Given the description of an element on the screen output the (x, y) to click on. 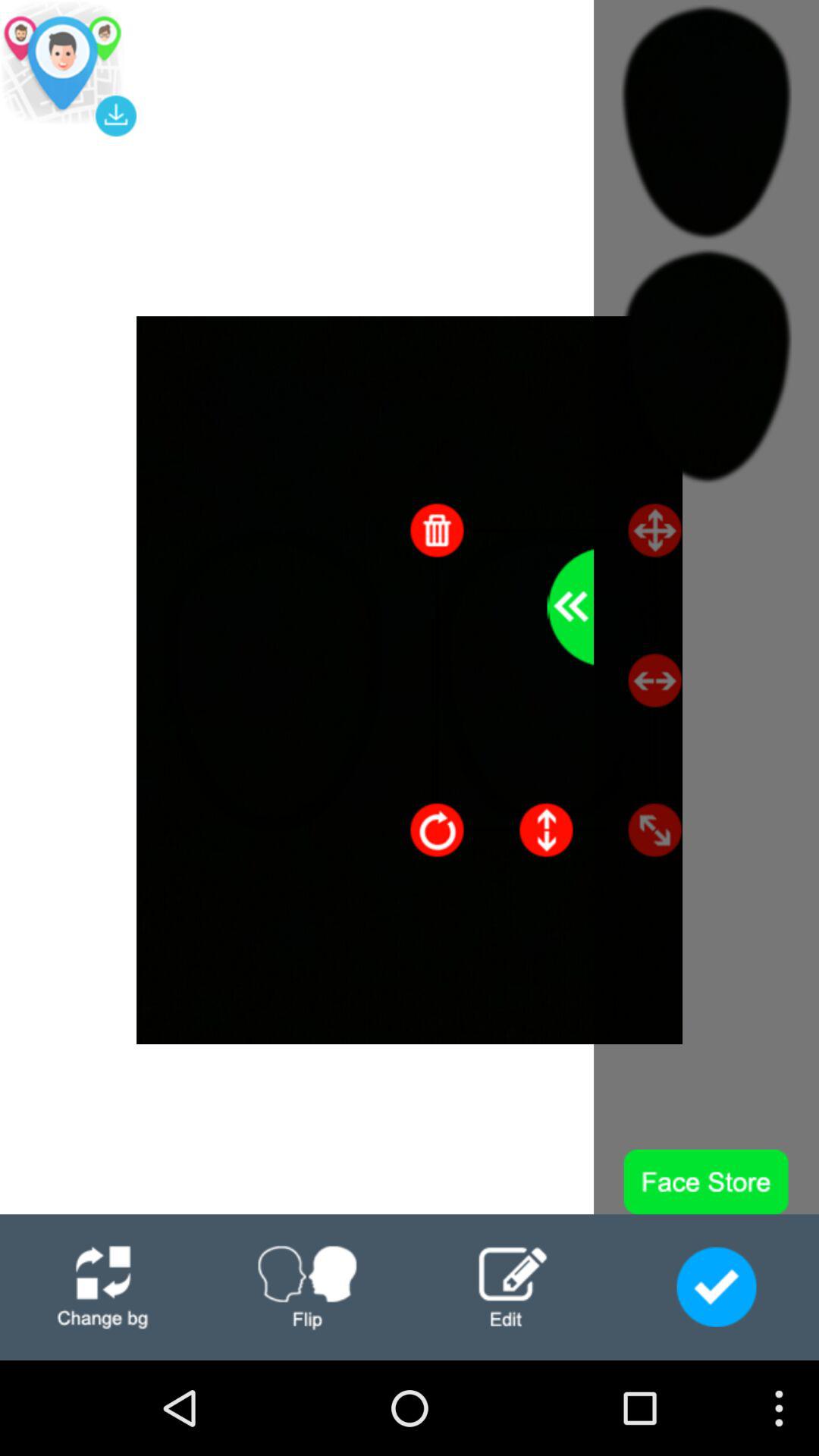
change log (102, 1287)
